Given the description of an element on the screen output the (x, y) to click on. 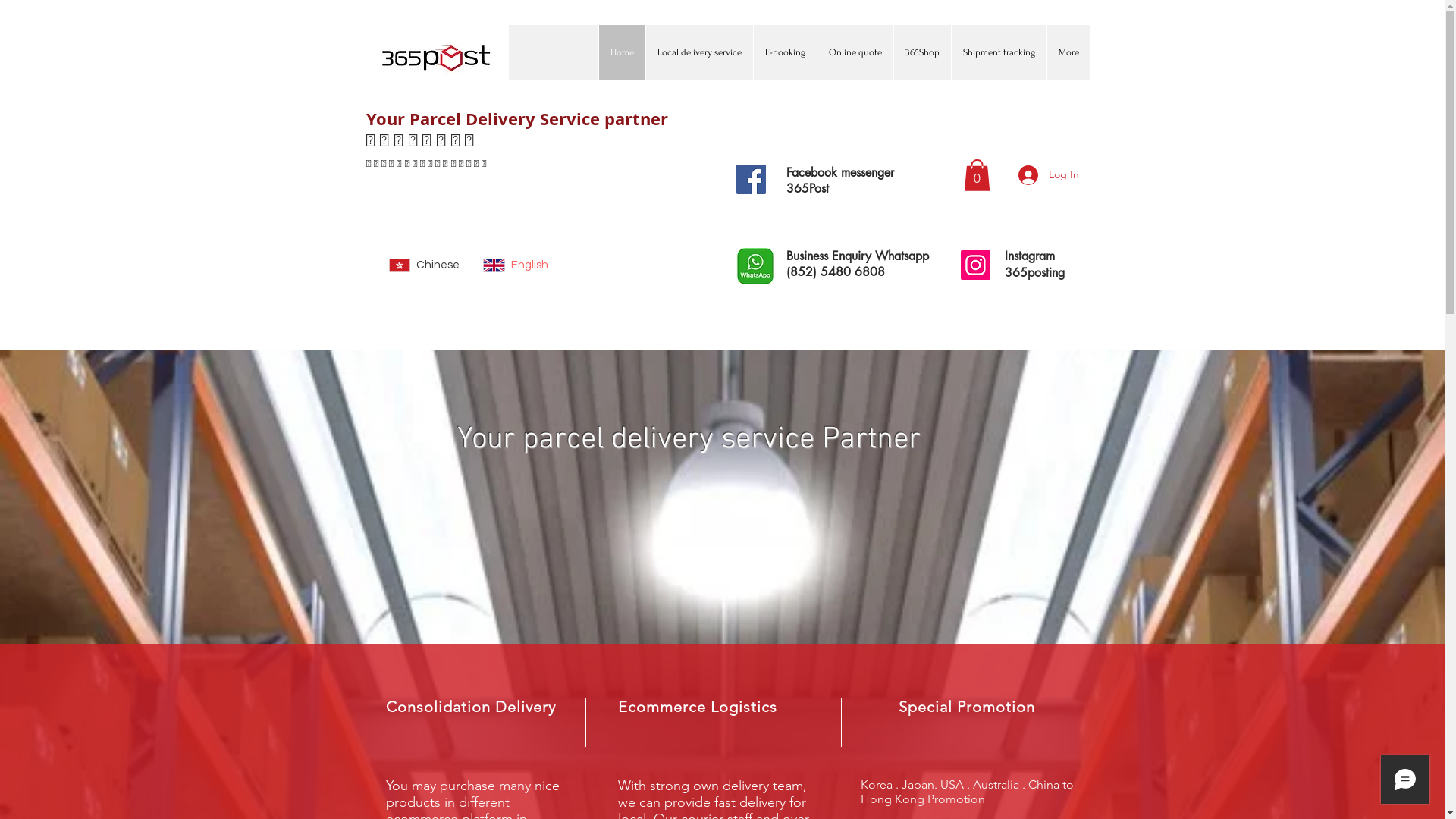
E-booking Element type: text (783, 52)
Log In Element type: text (1047, 174)
Local delivery service Element type: text (698, 52)
Online quote Element type: text (853, 52)
0 Element type: text (976, 175)
English Element type: text (515, 264)
Chinese Element type: text (424, 264)
Home Element type: text (620, 52)
365Shop Element type: text (921, 52)
Shipment tracking Element type: text (998, 52)
